Given the description of an element on the screen output the (x, y) to click on. 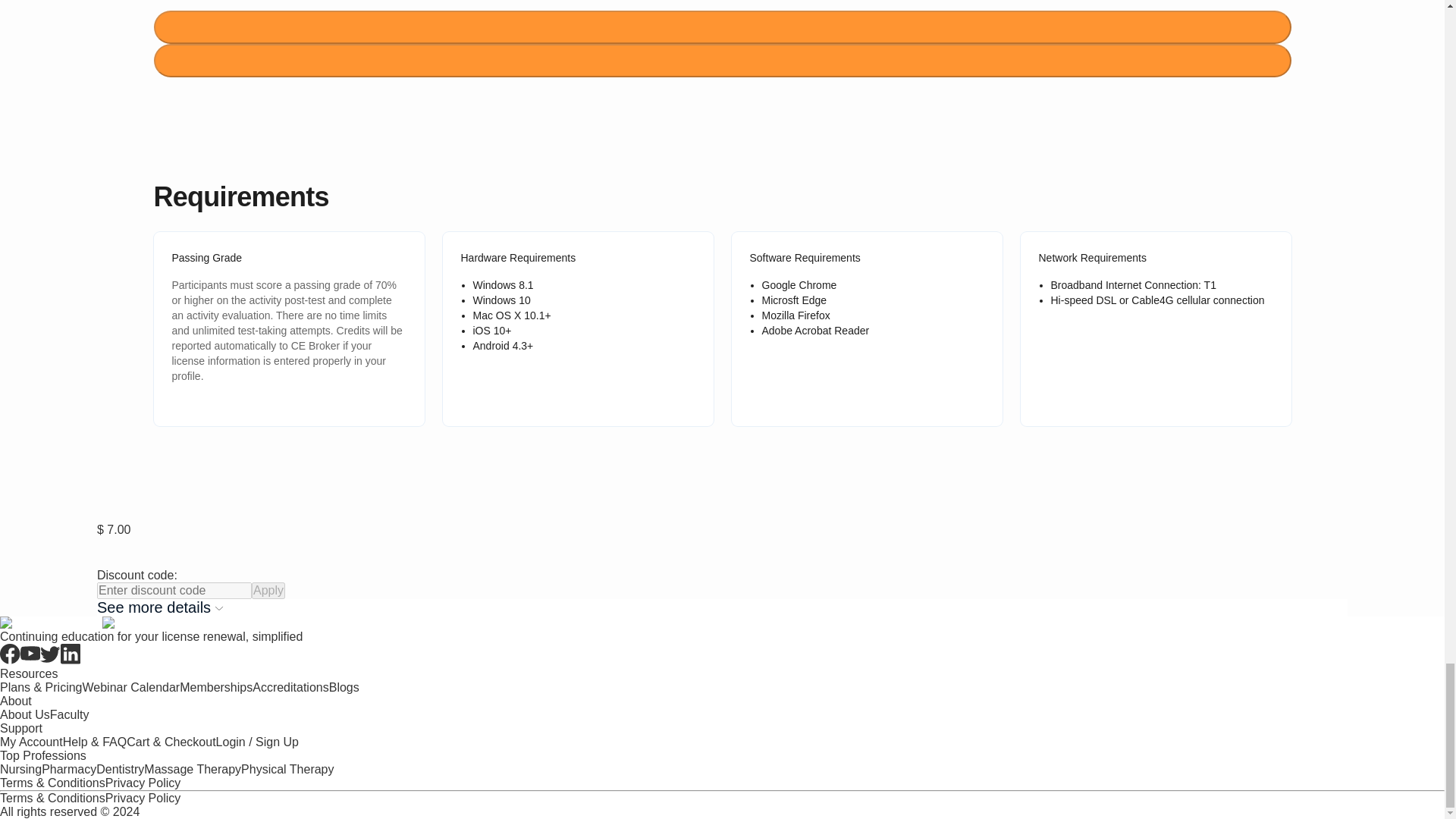
Memberships (215, 686)
See more details (722, 607)
Webinar Calendar (130, 686)
Apply (268, 590)
